Given the description of an element on the screen output the (x, y) to click on. 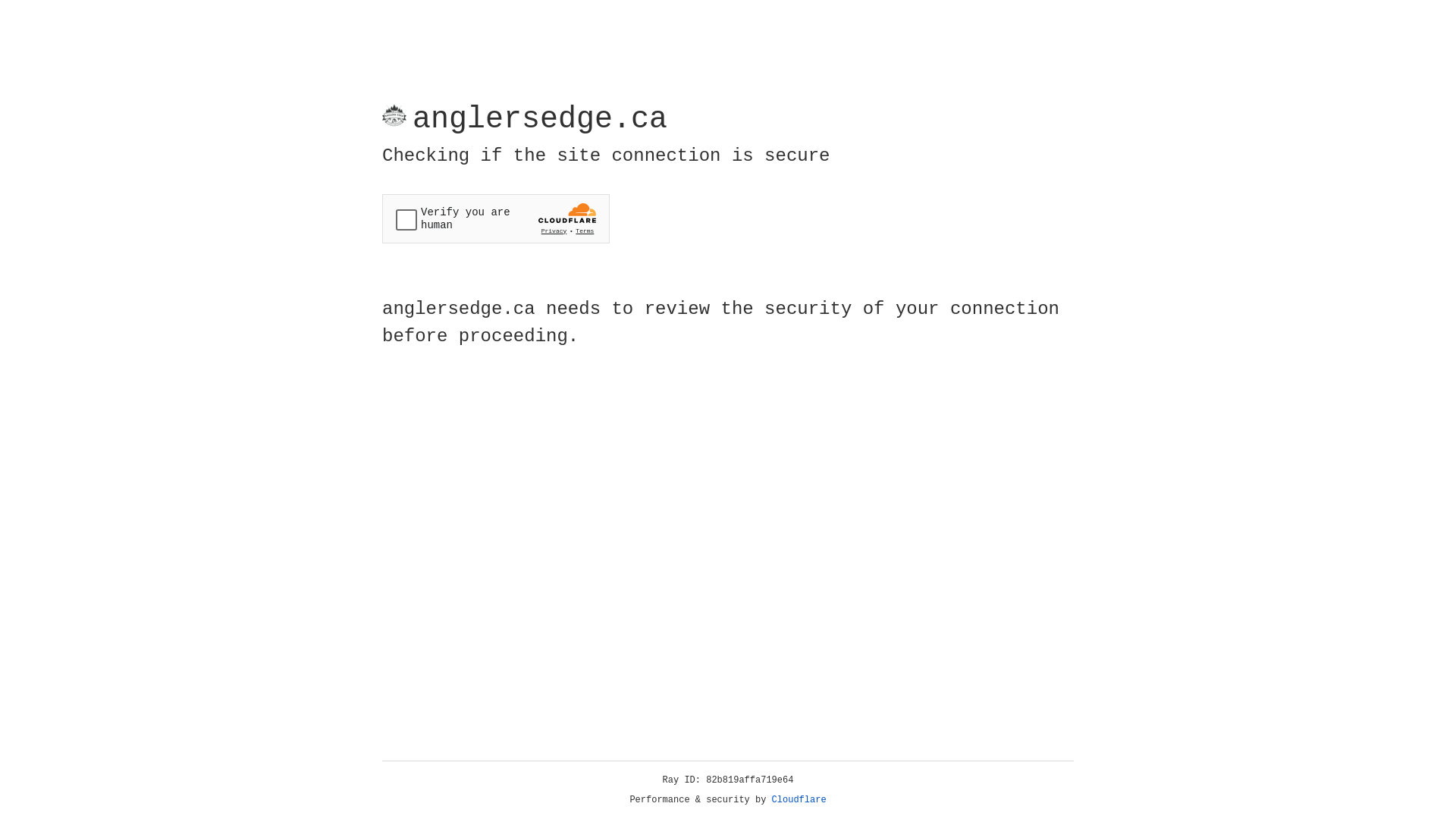
Cloudflare Element type: text (798, 799)
Widget containing a Cloudflare security challenge Element type: hover (495, 218)
